Given the description of an element on the screen output the (x, y) to click on. 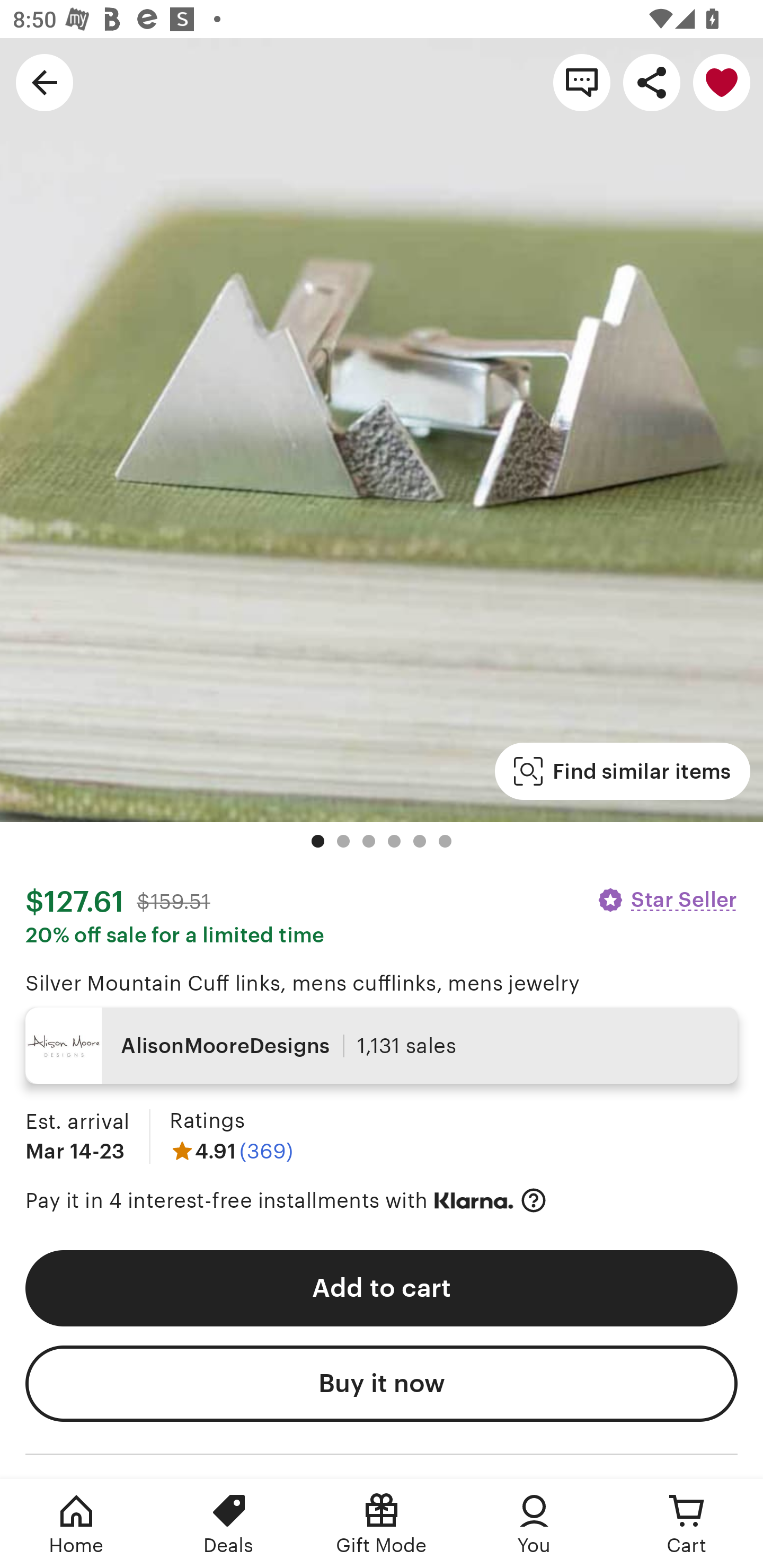
Navigate up (44, 81)
Contact shop (581, 81)
Share (651, 81)
Find similar items (622, 771)
Star Seller (666, 899)
AlisonMooreDesigns 1,131 sales (381, 1045)
Ratings (206, 1120)
4.91 (369) (231, 1150)
Add to cart (381, 1287)
Buy it now (381, 1383)
Home (76, 1523)
Gift Mode (381, 1523)
You (533, 1523)
Cart (686, 1523)
